Given the description of an element on the screen output the (x, y) to click on. 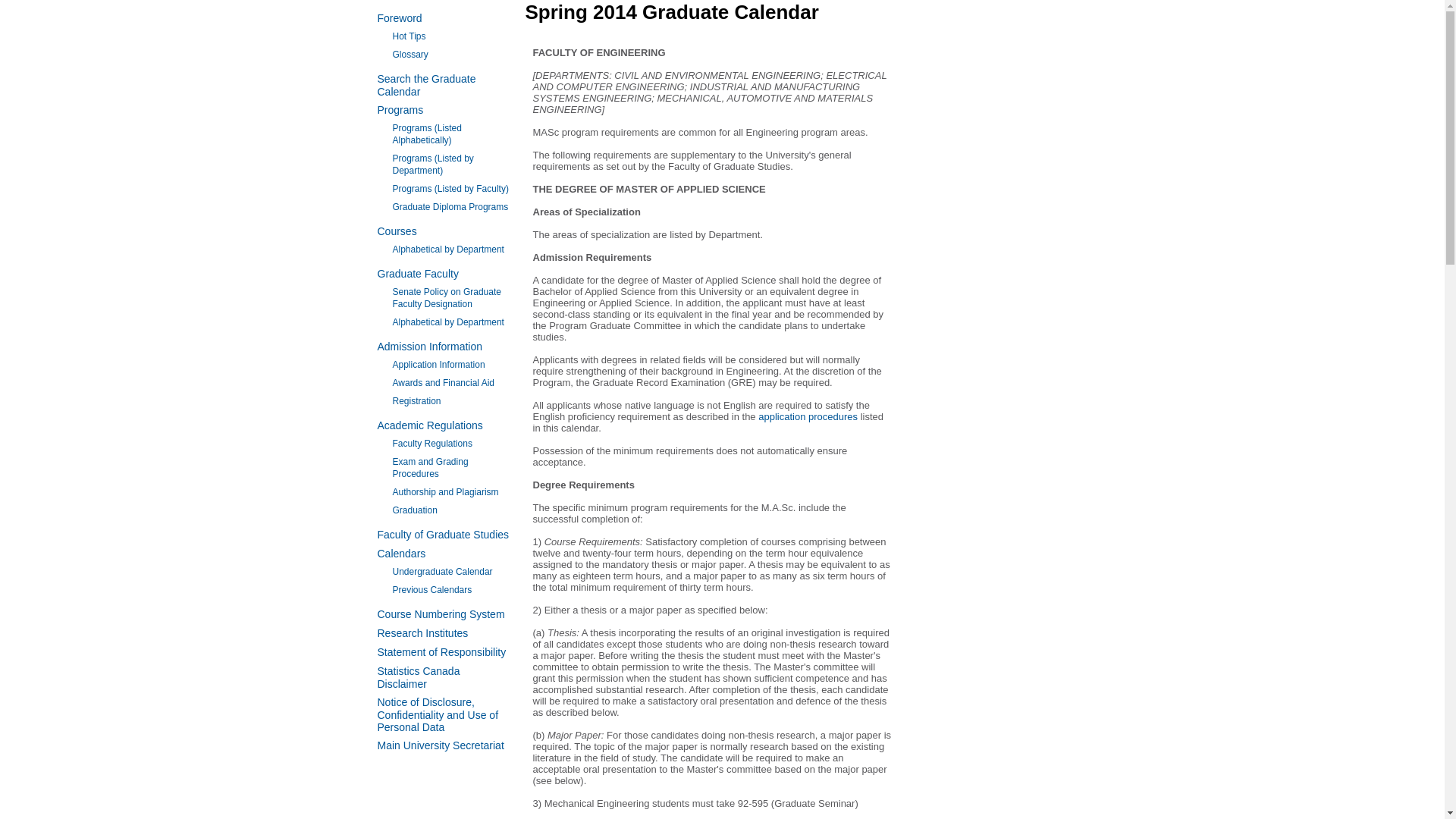
Undergraduate Calendar (443, 571)
Graduate Diploma Programs (450, 206)
Application Information (438, 364)
Academic Regulations (430, 425)
Statement of Responsibility (441, 652)
Awards and Financial Aid (444, 382)
Main University Secretariat (440, 745)
Authorship and Plagiarism (446, 491)
Search the Graduate Calendar (426, 84)
Statistics Canada Disclaimer (418, 677)
Alphabetical by Department (448, 321)
application procedures (807, 416)
Graduate Faculty (417, 273)
Calendars (401, 553)
Admission Information (430, 346)
